Given the description of an element on the screen output the (x, y) to click on. 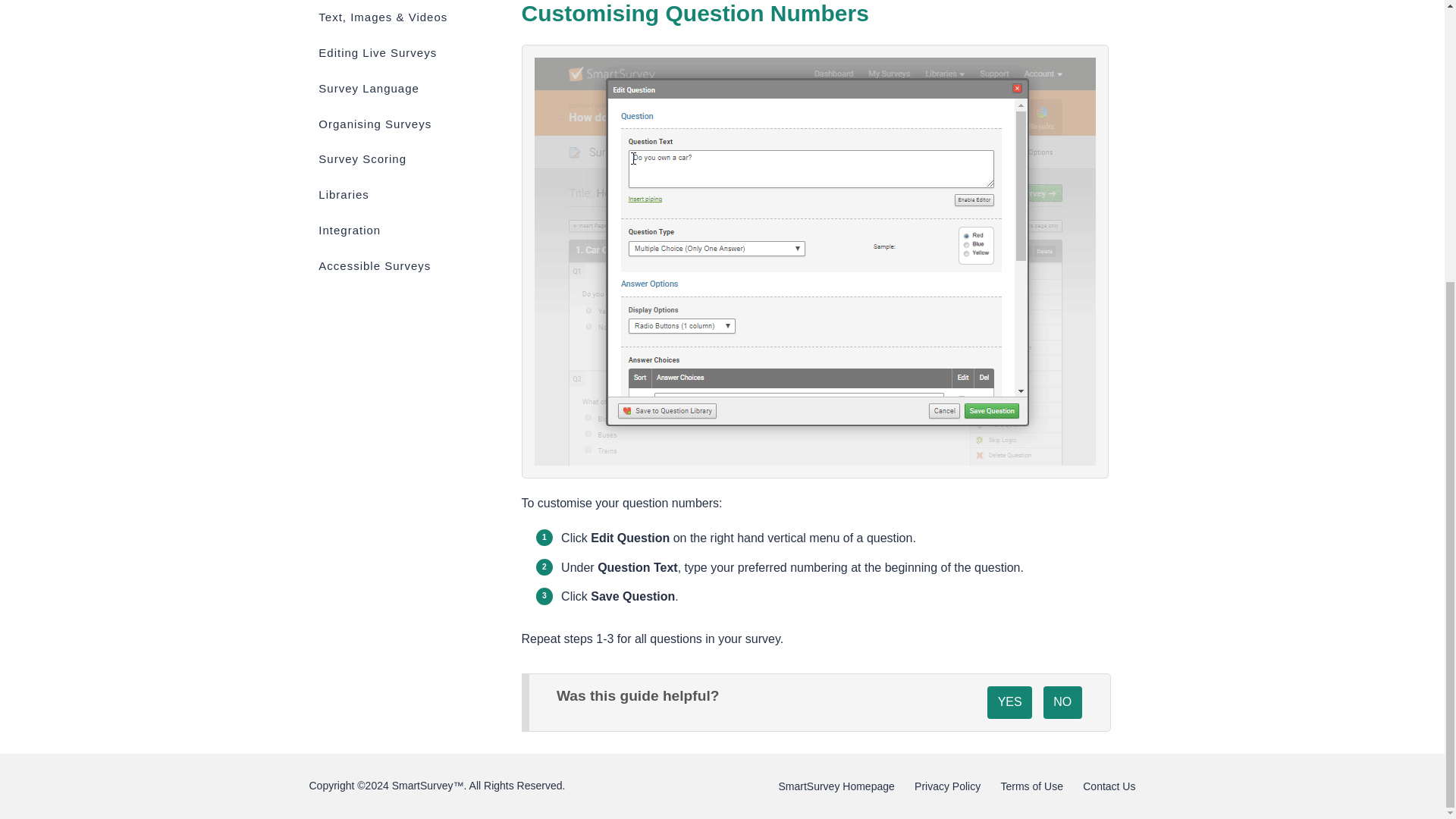
Survey Scoring (403, 159)
Organising Surveys (403, 123)
Privacy Policy (946, 786)
Editing Live Surveys (403, 52)
SmartSurvey Homepage (835, 786)
Contact Us (1109, 786)
Libraries (403, 194)
Survey Language (403, 88)
YES (1009, 702)
Accessible Surveys (403, 265)
NO (1063, 702)
Terms of Use (1031, 786)
Integration (403, 230)
